Given the description of an element on the screen output the (x, y) to click on. 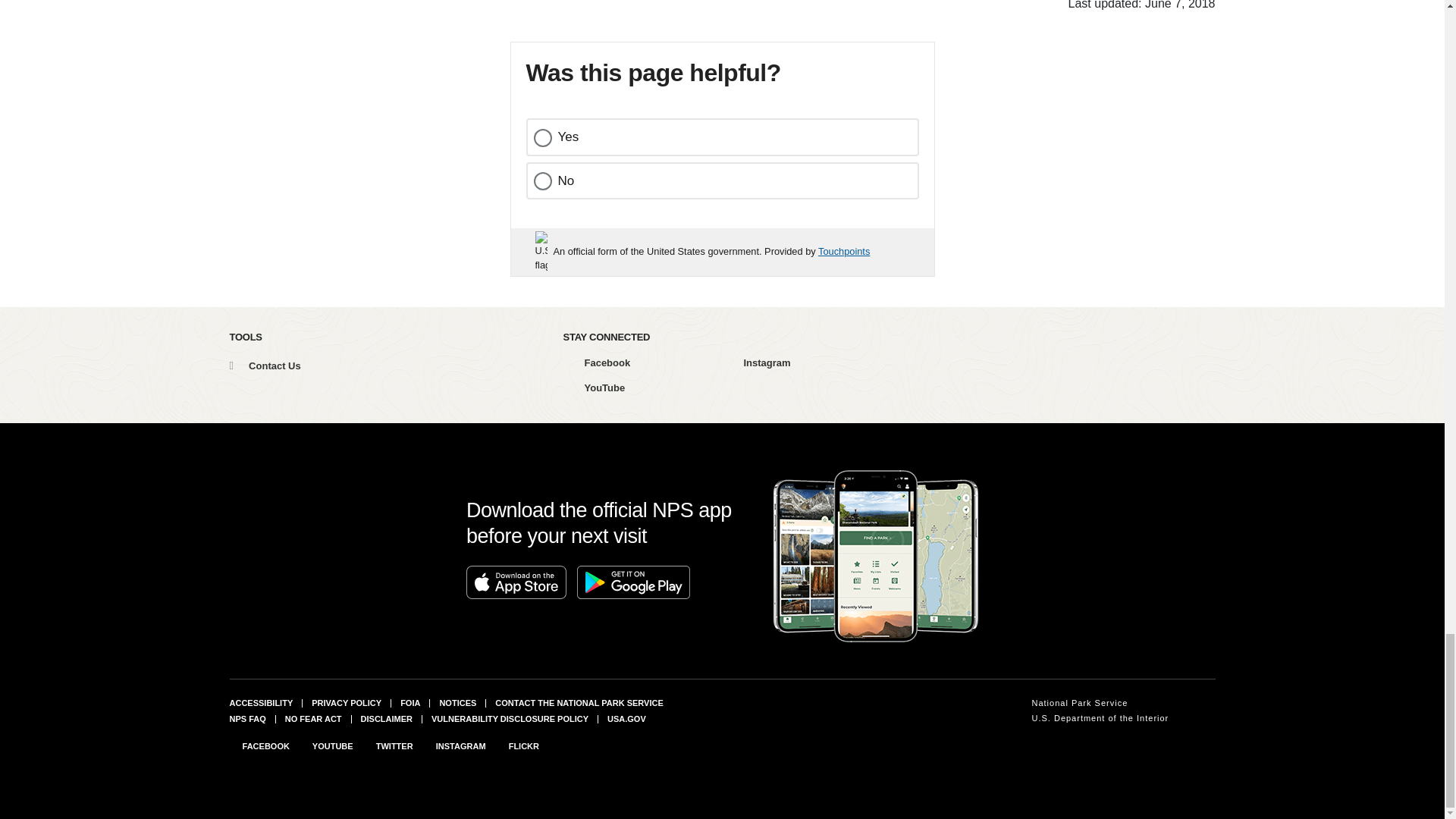
National Park Service frequently asked questions (246, 718)
